Given the description of an element on the screen output the (x, y) to click on. 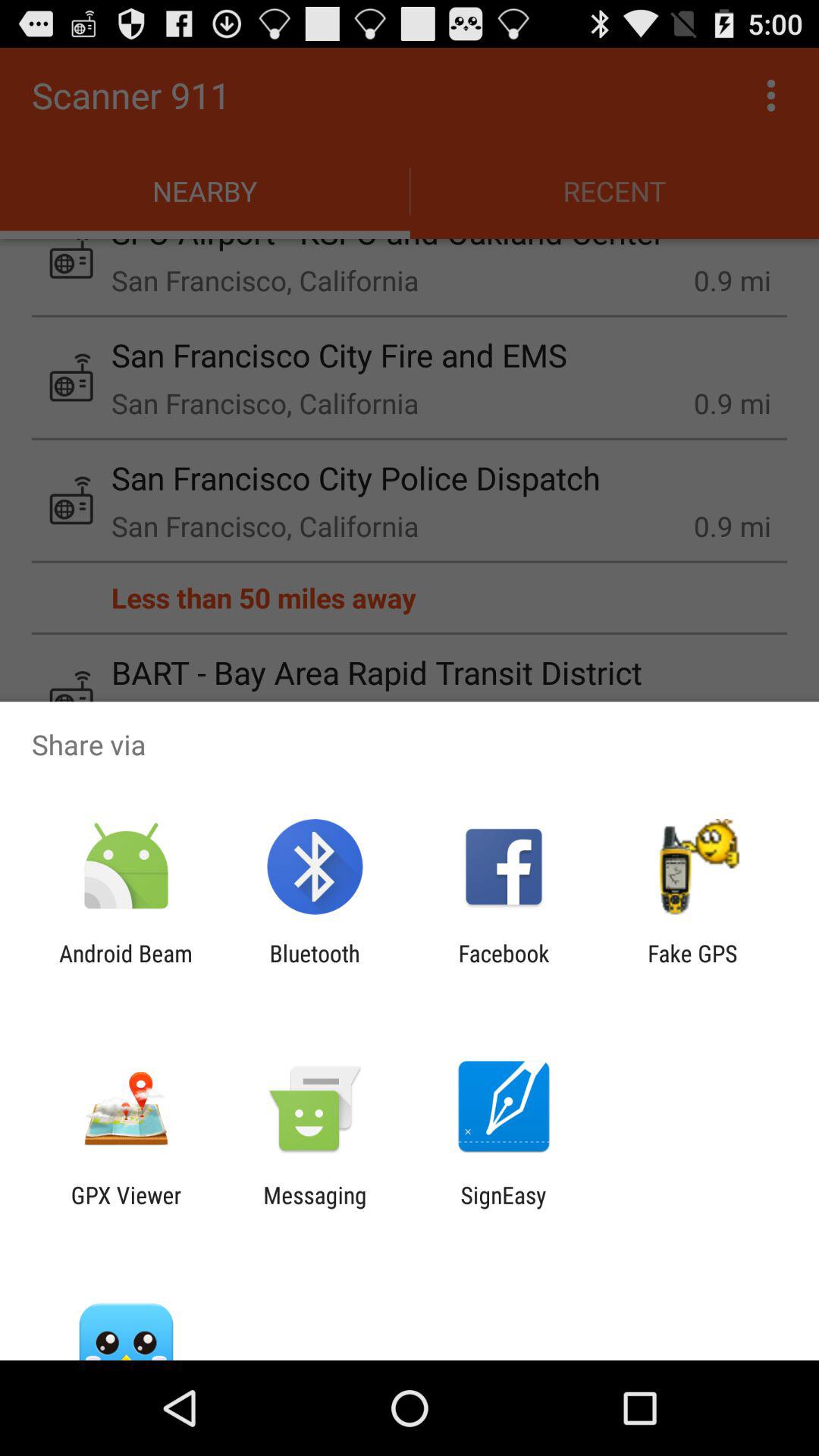
select messaging item (314, 1208)
